Given the description of an element on the screen output the (x, y) to click on. 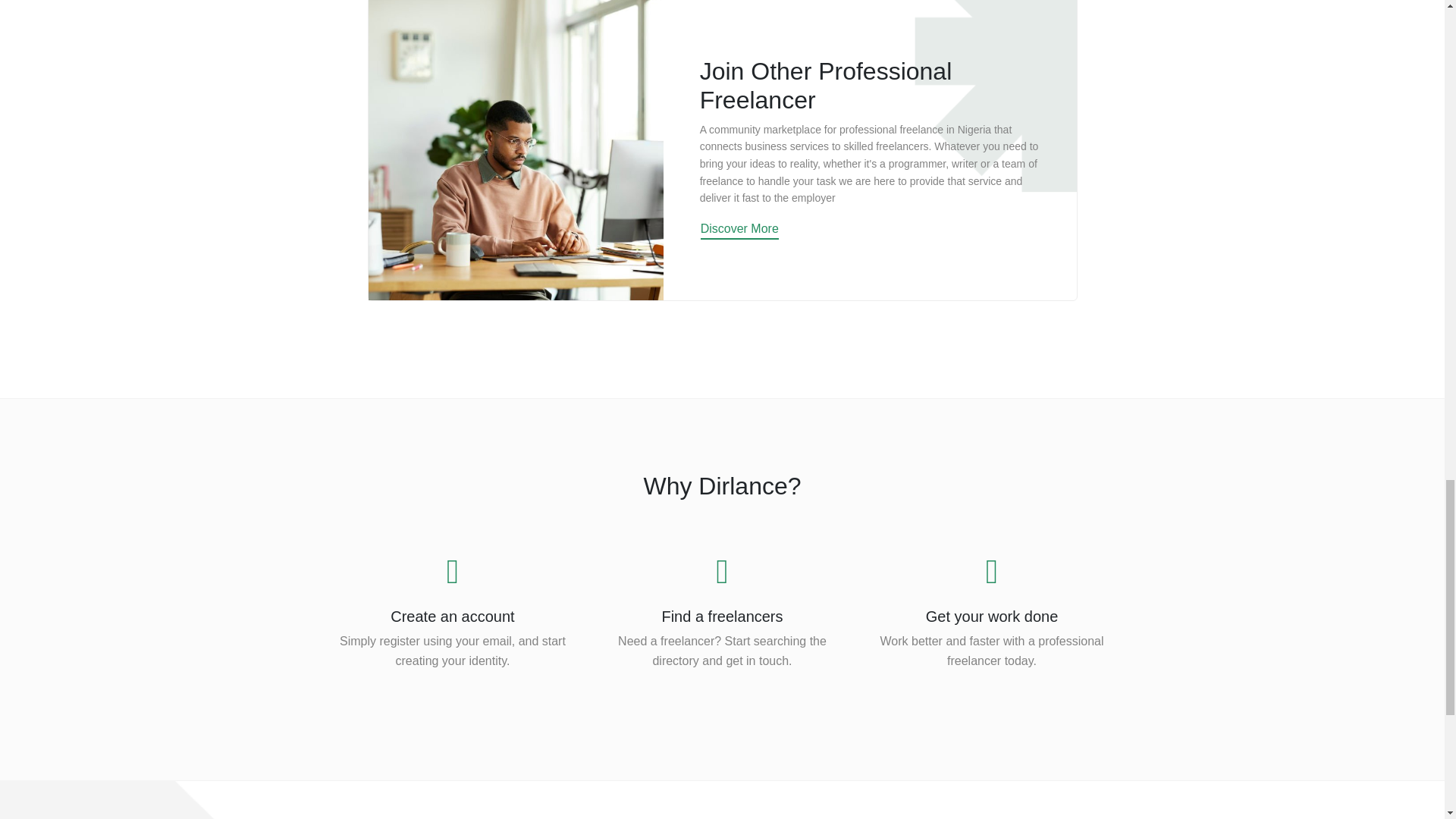
Discover More (739, 229)
